Given the description of an element on the screen output the (x, y) to click on. 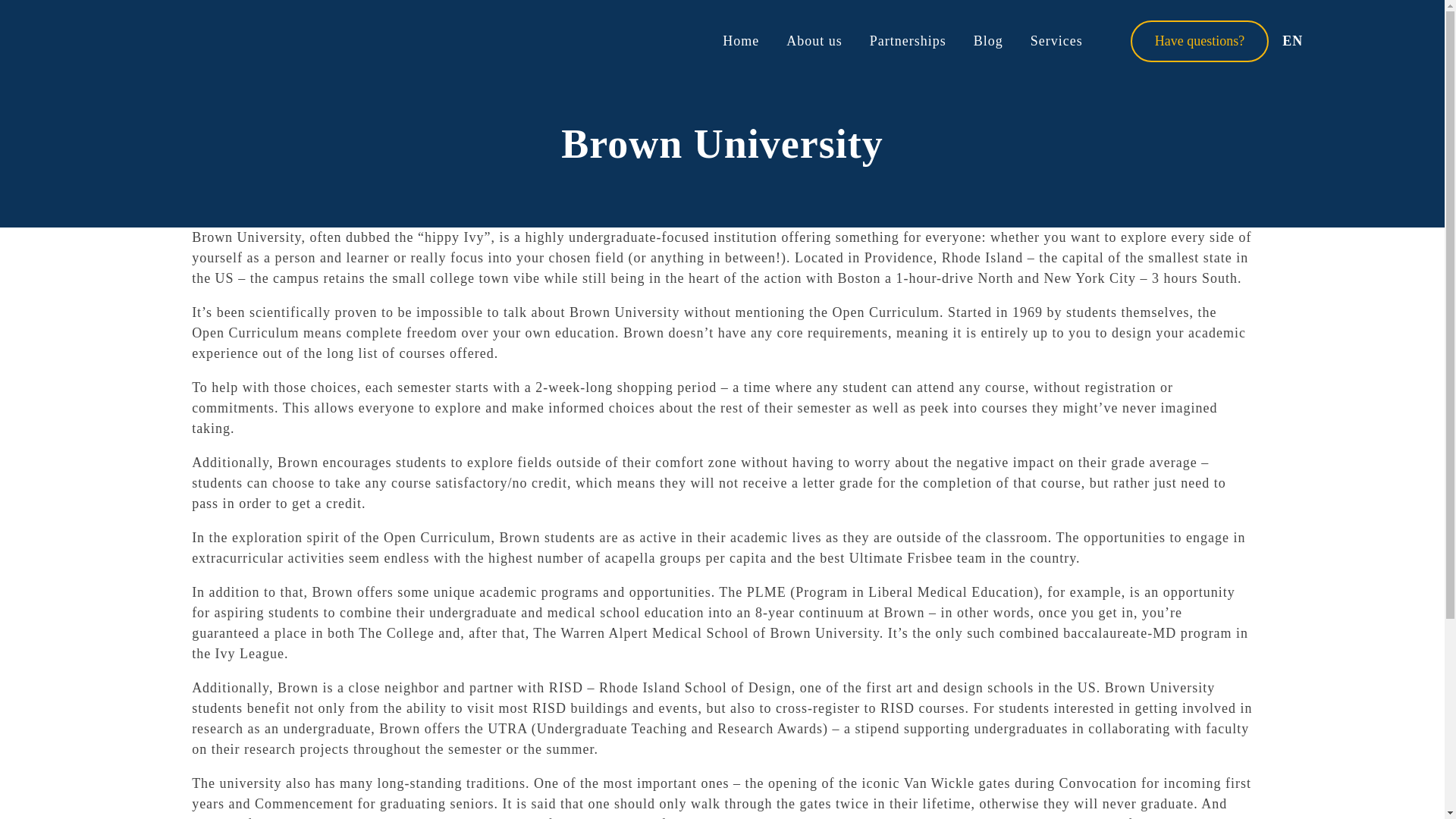
Home (740, 41)
Partnerships (908, 41)
About us (813, 41)
Have questions? (1199, 41)
EN (1294, 40)
Services (1056, 41)
Blog (988, 41)
